Given the description of an element on the screen output the (x, y) to click on. 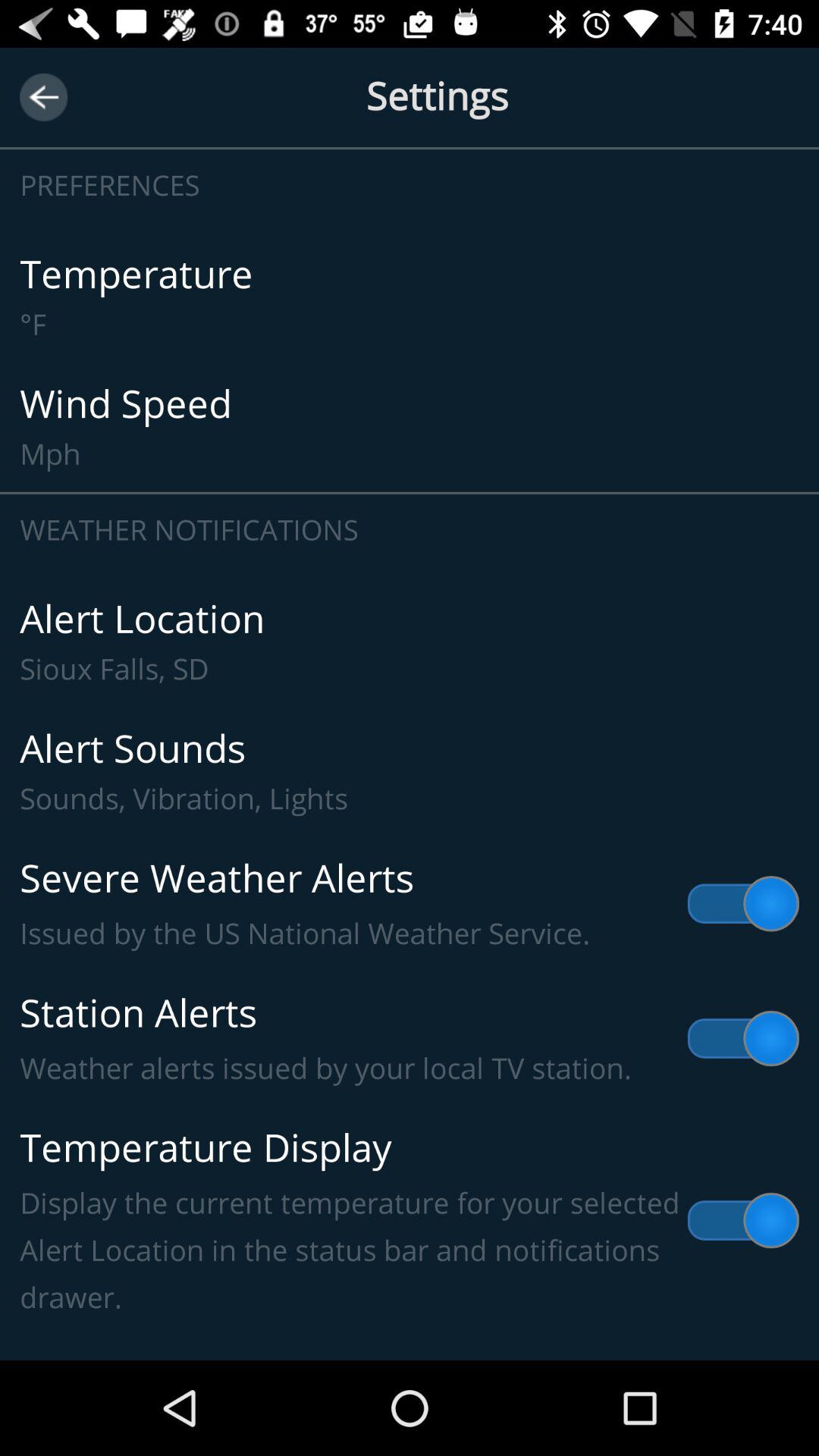
open item above the severe weather alerts icon (409, 771)
